Given the description of an element on the screen output the (x, y) to click on. 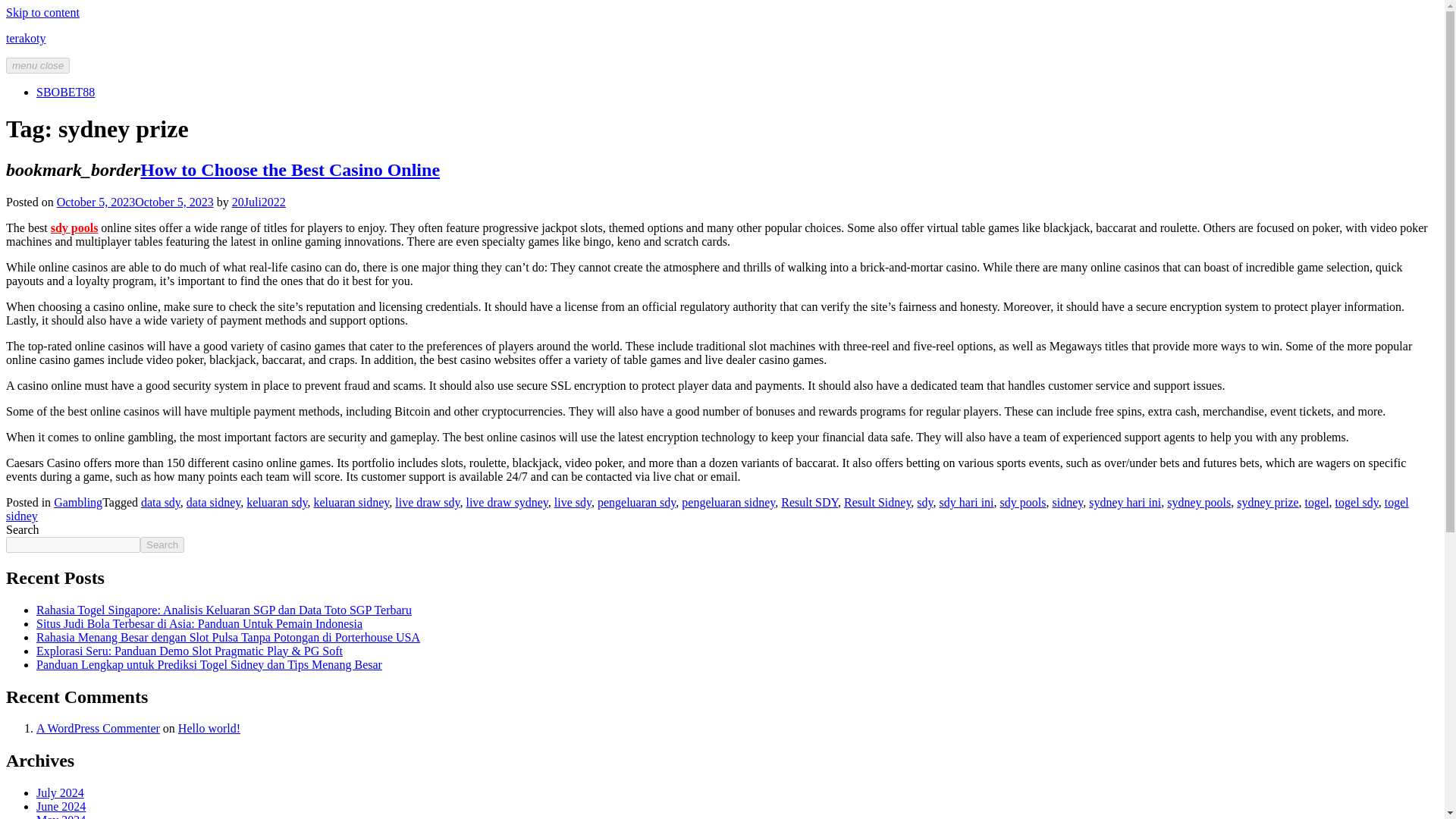
live draw sdy (427, 502)
Search (161, 544)
data sidney (213, 502)
sidney (1067, 502)
data sdy (160, 502)
sdy pools (1023, 502)
sydney pools (1198, 502)
July 2024 (60, 792)
20Juli2022 (258, 201)
Result Sidney (877, 502)
October 5, 2023October 5, 2023 (135, 201)
live draw sydney (506, 502)
togel (1316, 502)
